Given the description of an element on the screen output the (x, y) to click on. 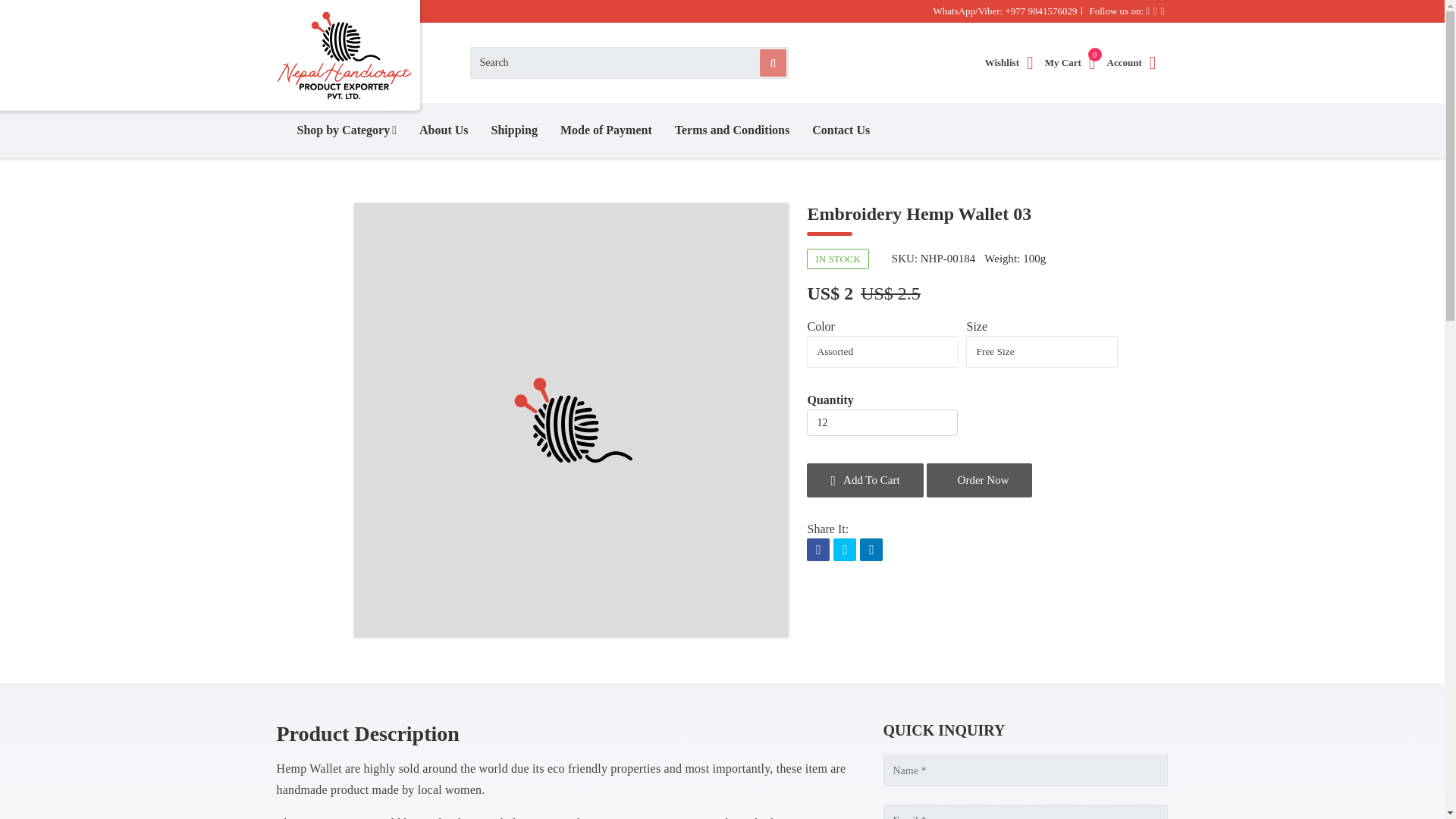
Account (1134, 61)
Linkedin (871, 549)
Shop by Category (346, 129)
12 (1066, 62)
Twitter (881, 422)
Wishlist (844, 549)
Facebook (1004, 62)
